Given the description of an element on the screen output the (x, y) to click on. 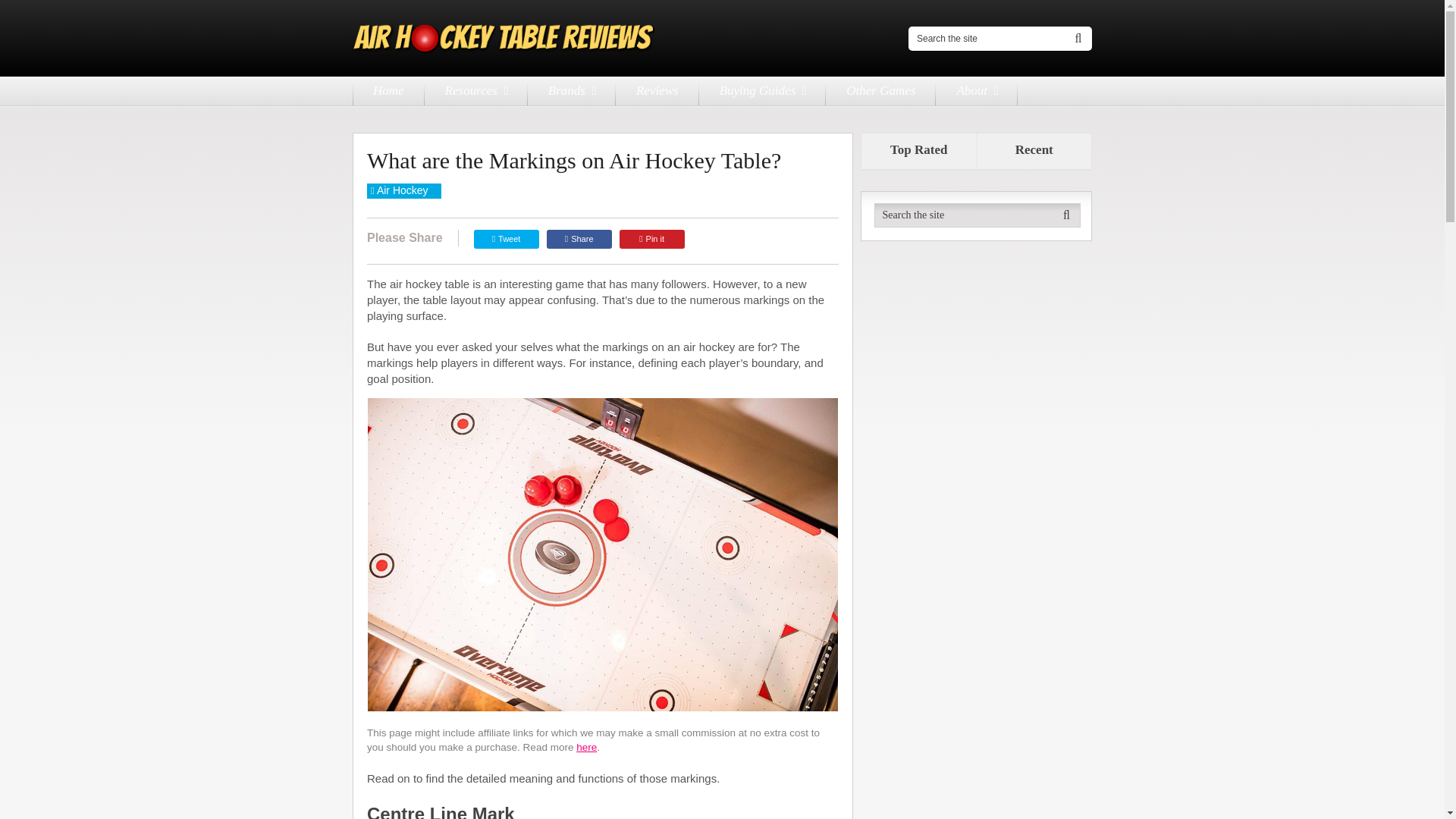
Reviews (656, 90)
Home (388, 90)
Brands (571, 90)
View all posts in Air Hockey (402, 190)
Resources (476, 90)
Buying Guides (762, 90)
